Given the description of an element on the screen output the (x, y) to click on. 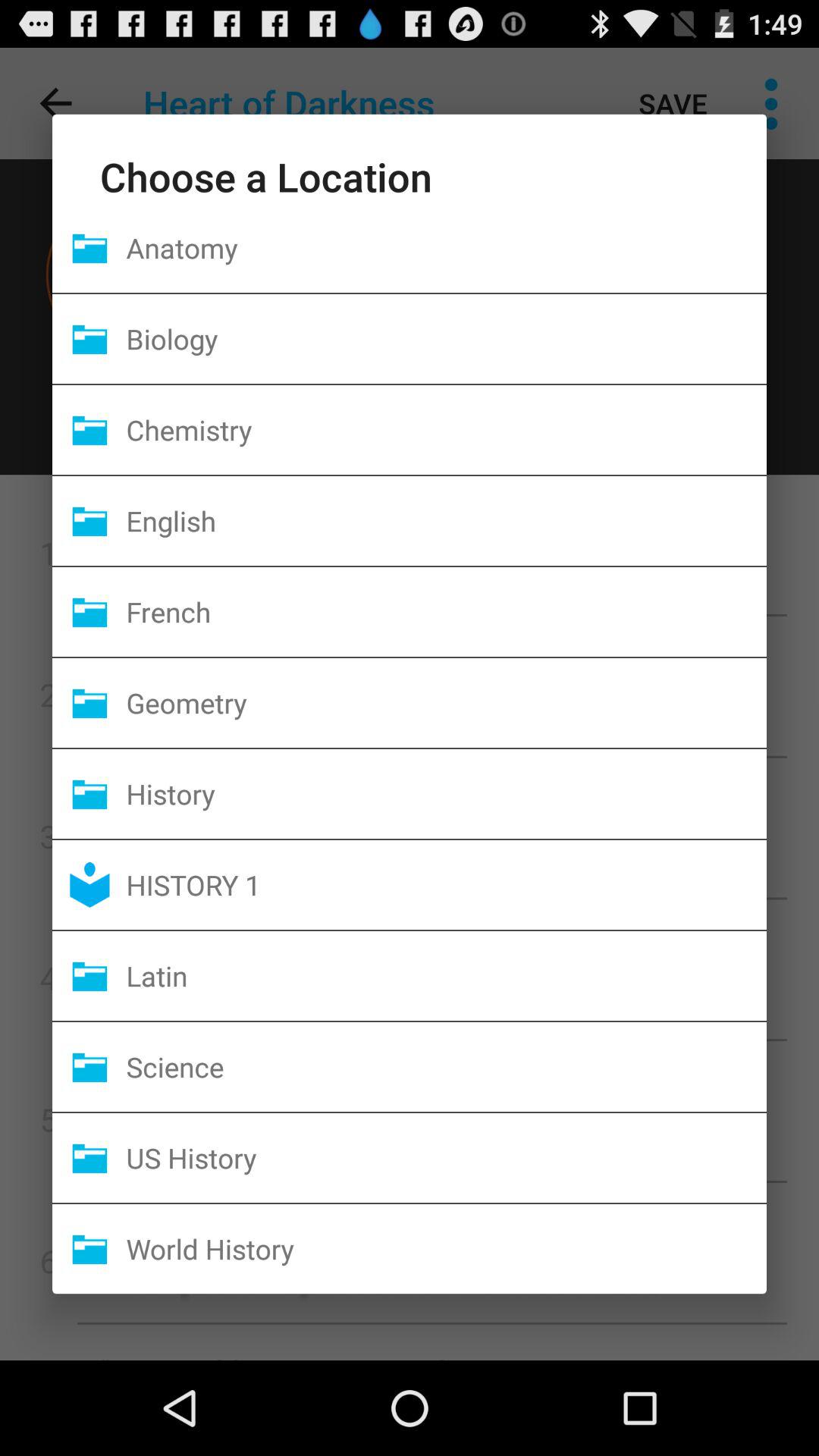
press the world history (446, 1248)
